Given the description of an element on the screen output the (x, y) to click on. 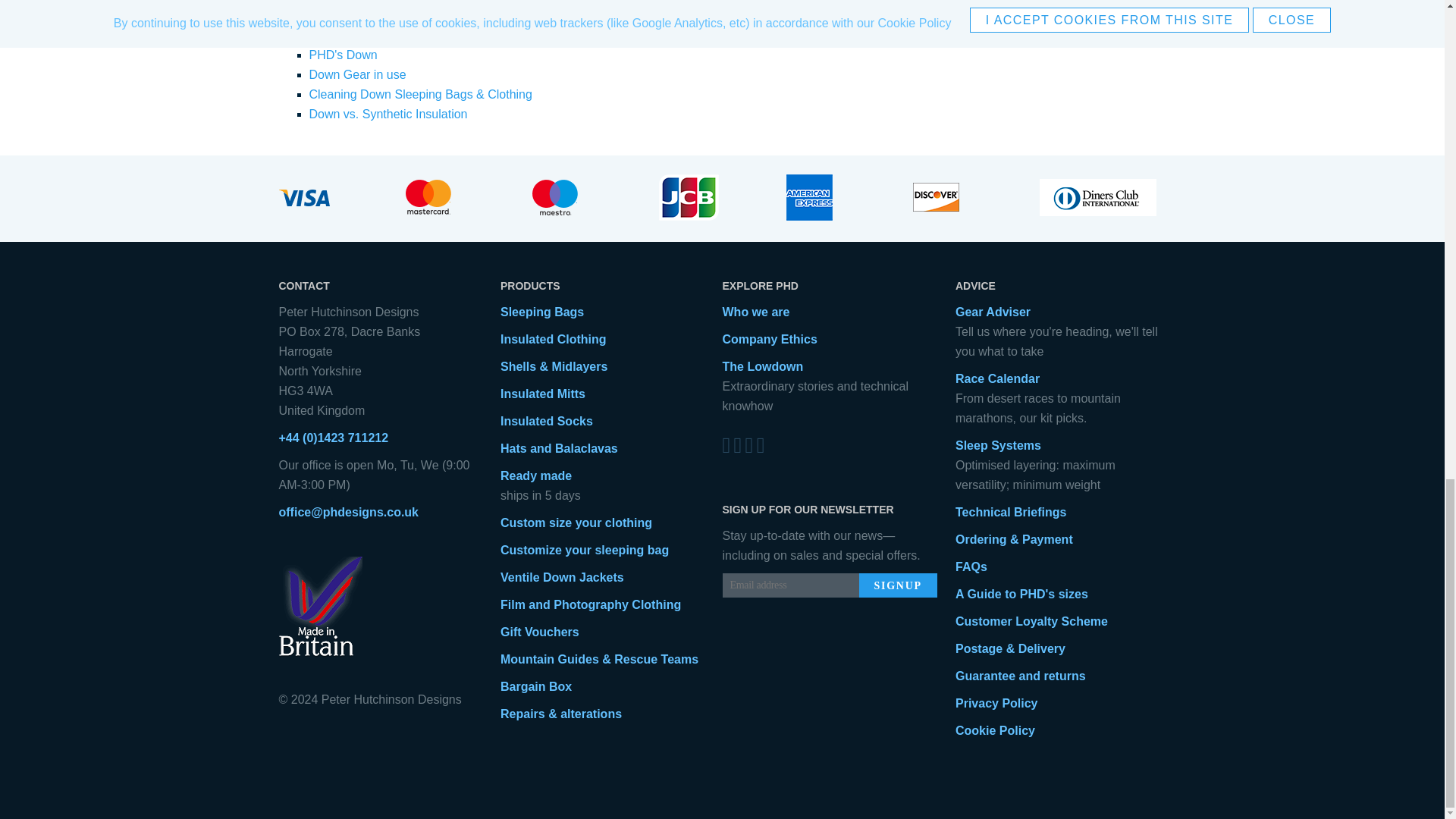
Signup (897, 585)
